Given the description of an element on the screen output the (x, y) to click on. 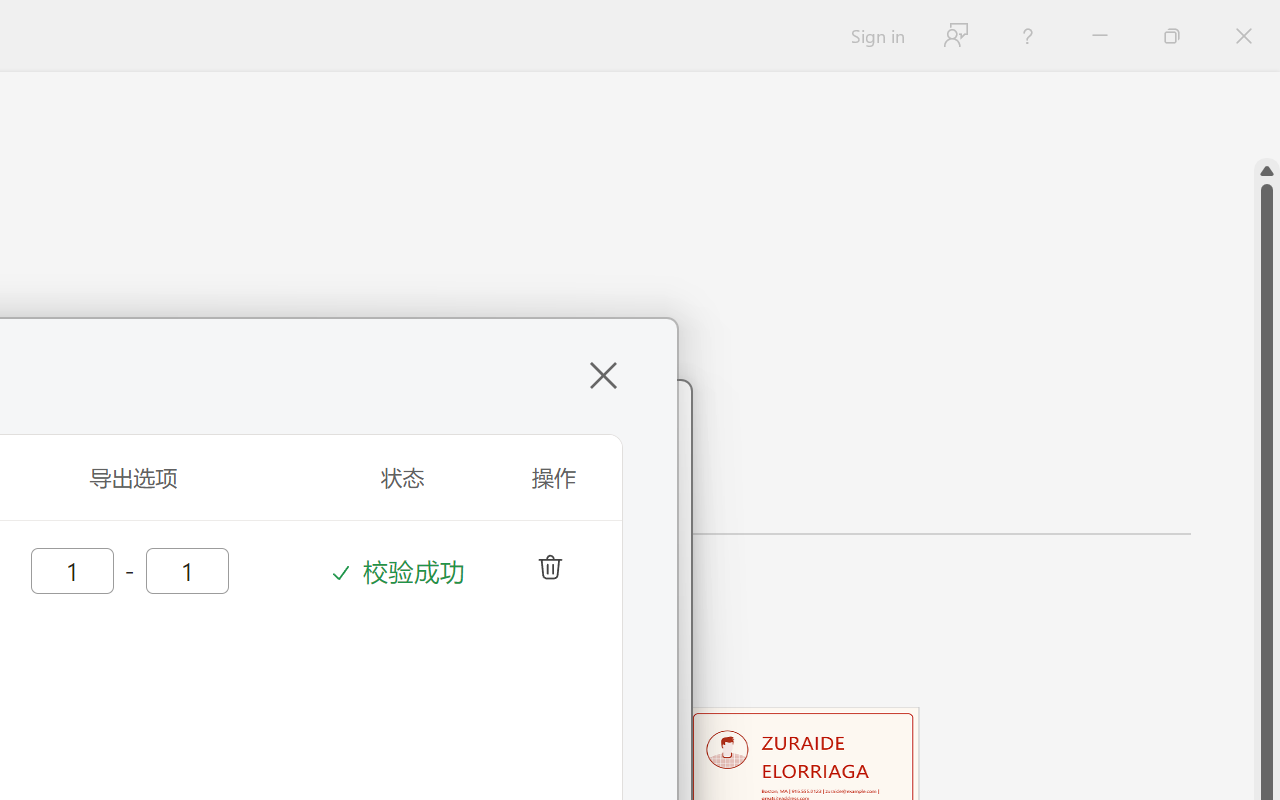
AutomationID: input44 (185, 569)
AutomationID: input36 (70, 569)
Line up (1267, 171)
deleteColumn (548, 563)
